Given the description of an element on the screen output the (x, y) to click on. 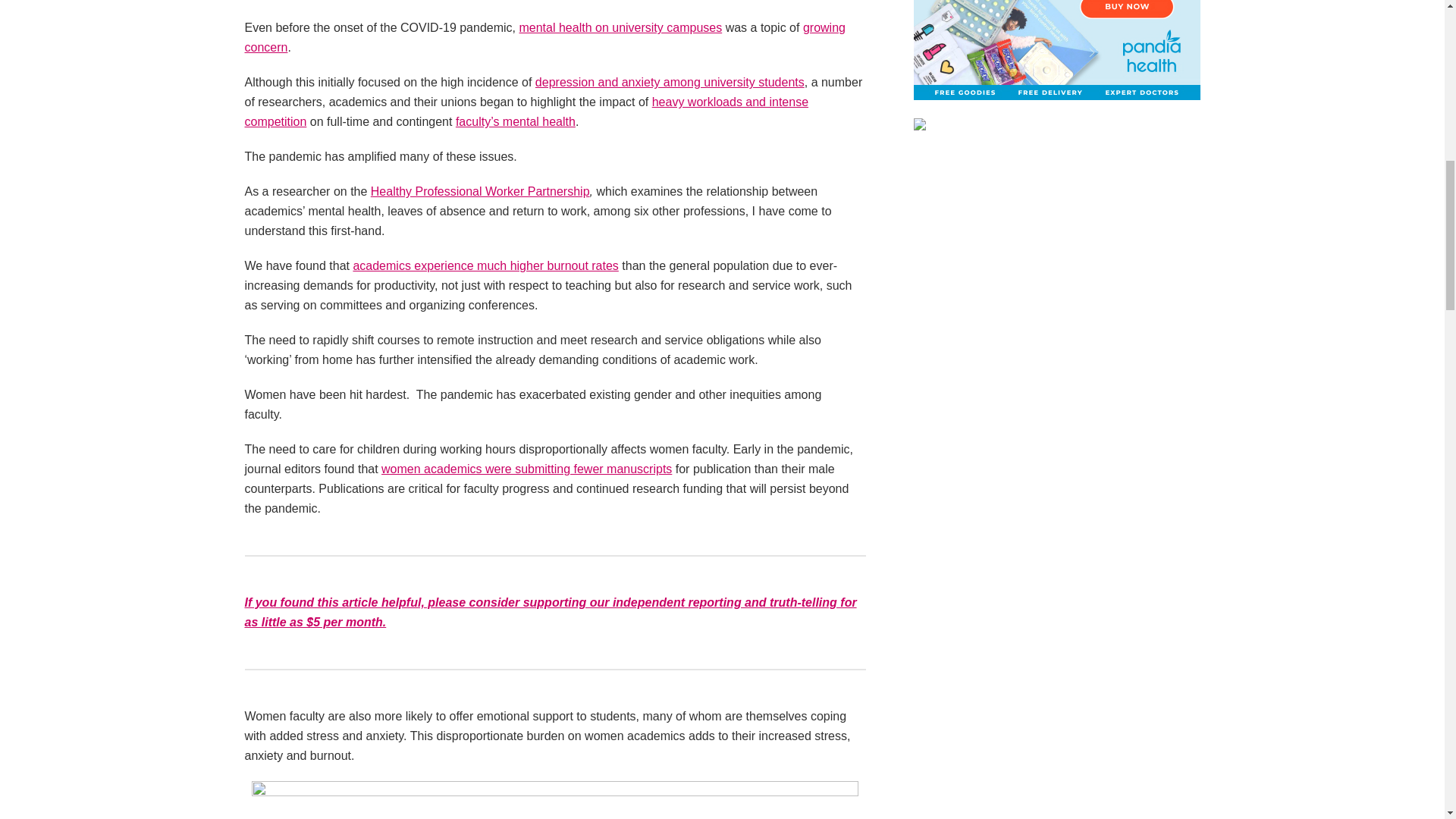
depression and anxiety among university students (670, 82)
heavy workloads and intense competition (526, 111)
Healthy Professional Worker Partnership (480, 191)
mental health on university campuses (620, 27)
academics experience much higher burnout rates (484, 265)
growing concern (544, 37)
women academics were submitting fewer manuscripts (526, 468)
